Given the description of an element on the screen output the (x, y) to click on. 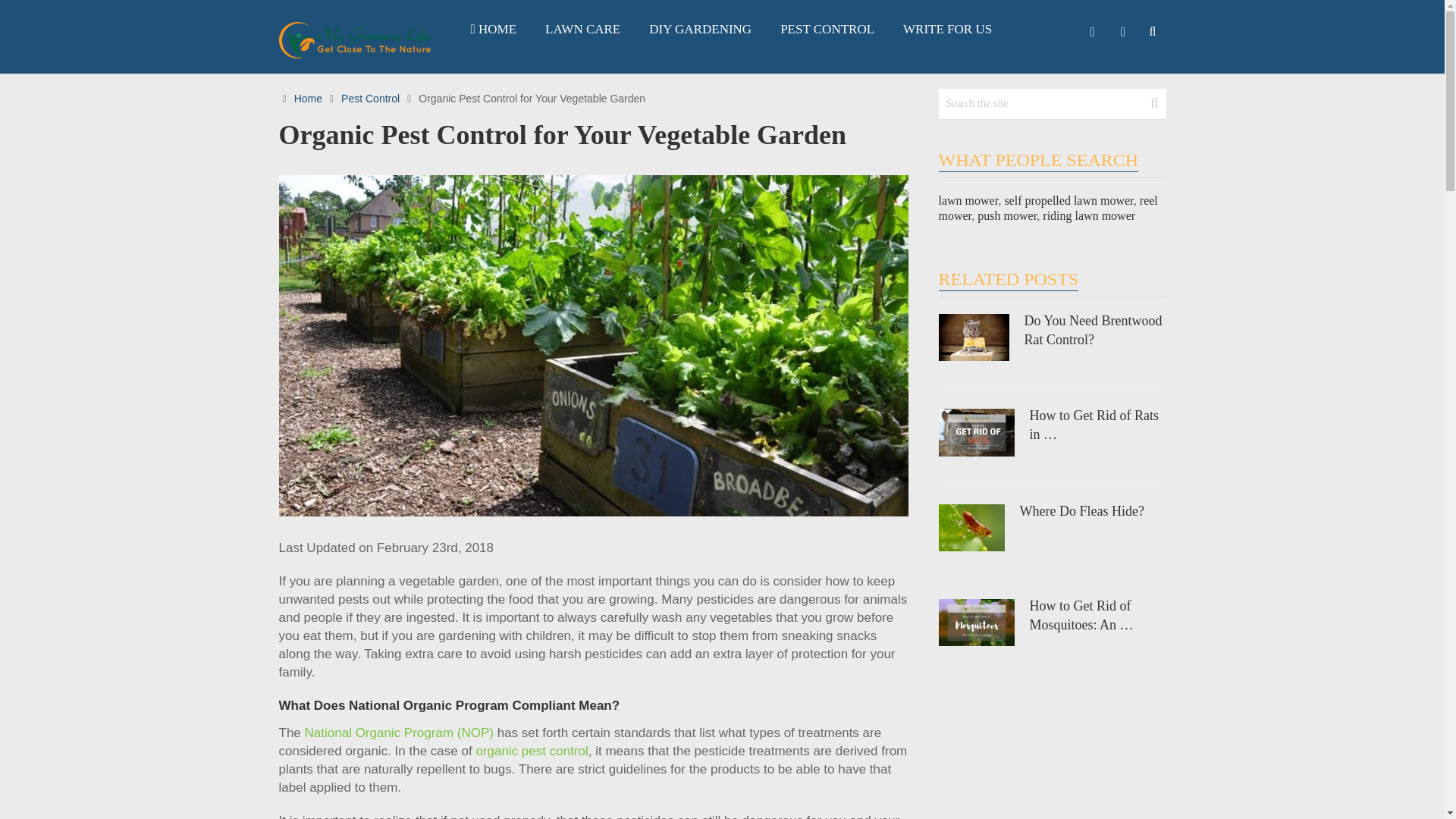
Do You Need Brentwood Rat Control? (1052, 330)
HOME (494, 29)
Where Do Fleas Hide? (1052, 511)
reel mower (1048, 207)
LAWN CARE (582, 29)
push mower (1006, 215)
Home (307, 98)
WRITE FOR US (947, 29)
riding lawn mower (1088, 215)
Where Do Fleas Hide? (1052, 511)
PEST CONTROL (826, 29)
lawn mower (968, 200)
Pest Control (369, 98)
How to Get Rid of Mosquitoes: An Practical Guide (1052, 615)
Do You Need Brentwood Rat Control? (1052, 330)
